Given the description of an element on the screen output the (x, y) to click on. 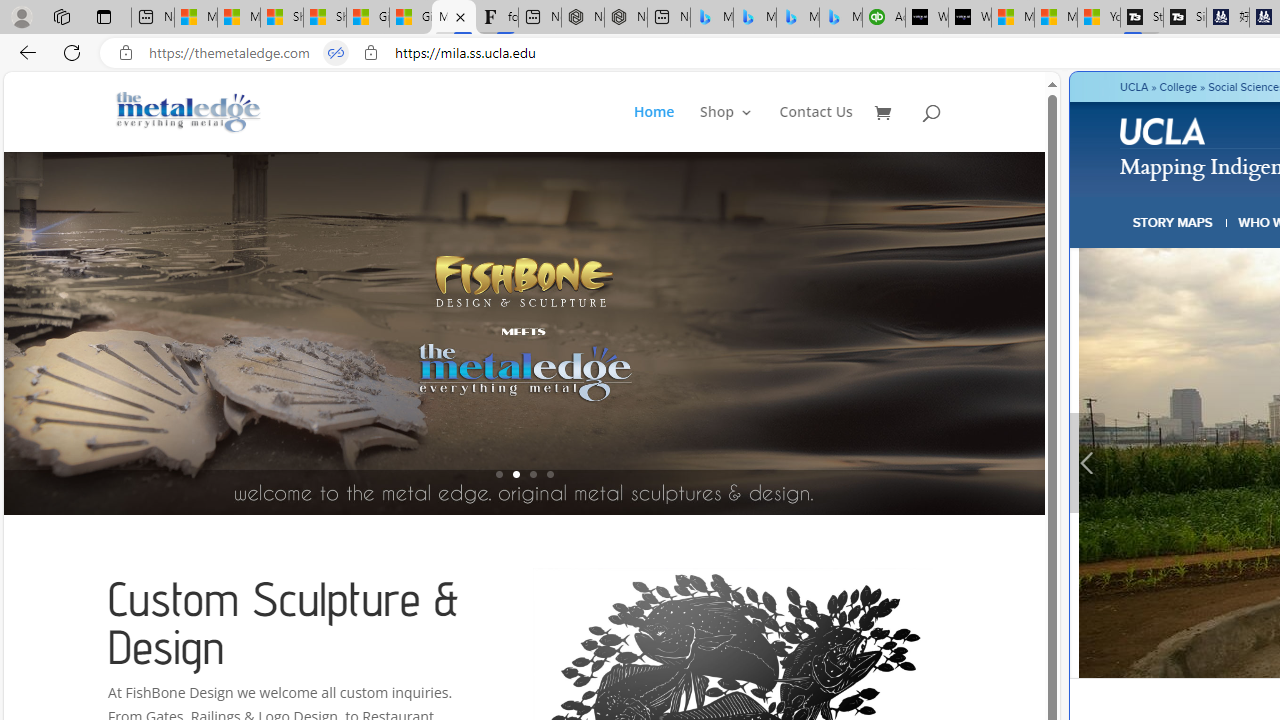
UCLA logo (1164, 134)
5 (1042, 332)
Metal Fish Sculptures & Metal Designs (189, 111)
Shop 3 (726, 128)
Home (653, 128)
